Given the description of an element on the screen output the (x, y) to click on. 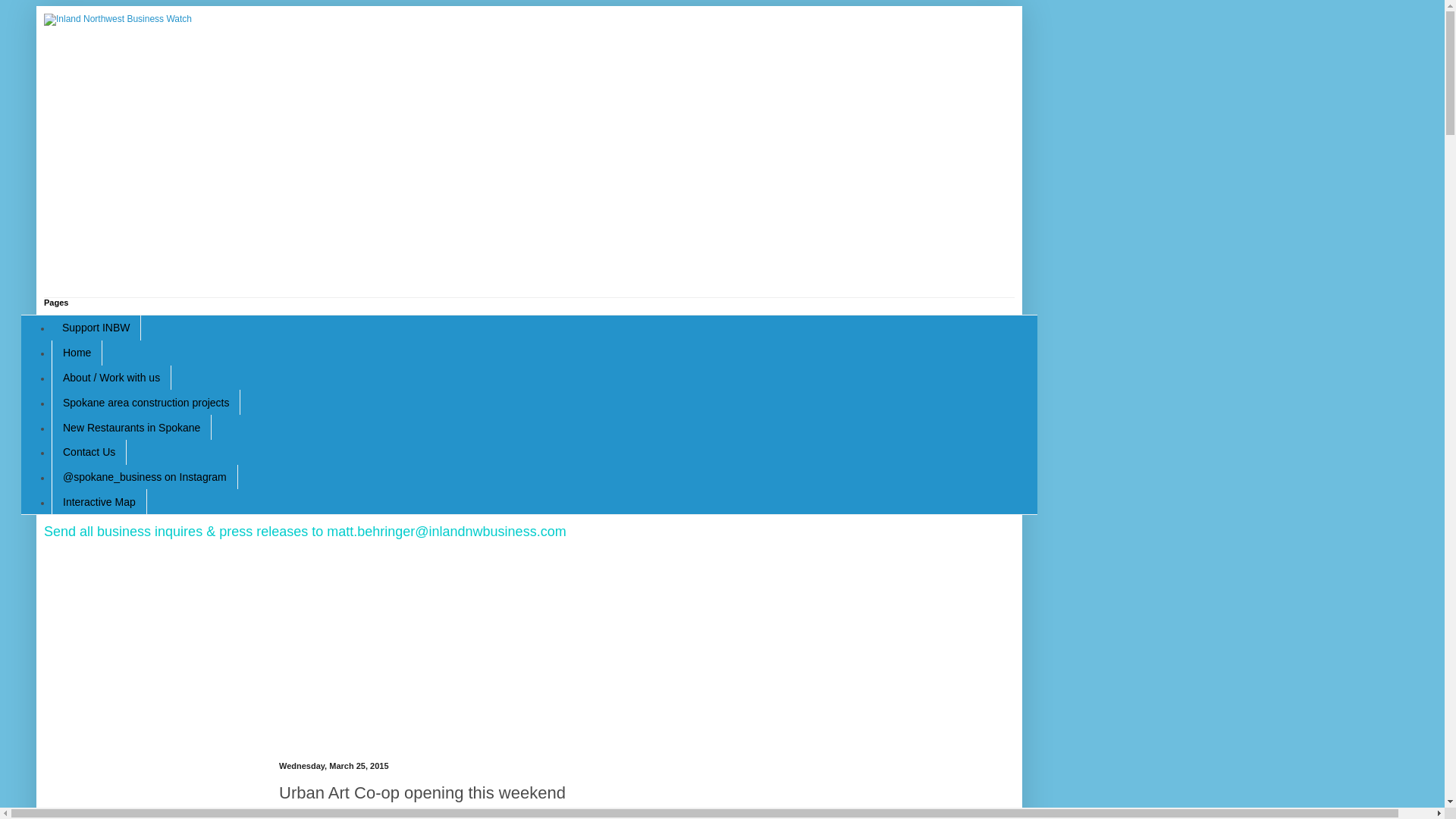
Interactive Map (98, 501)
New Restaurants in Spokane (130, 426)
Support INBW (95, 327)
Home (75, 352)
Contact Us (88, 452)
Spokane area construction projects (145, 401)
